Given the description of an element on the screen output the (x, y) to click on. 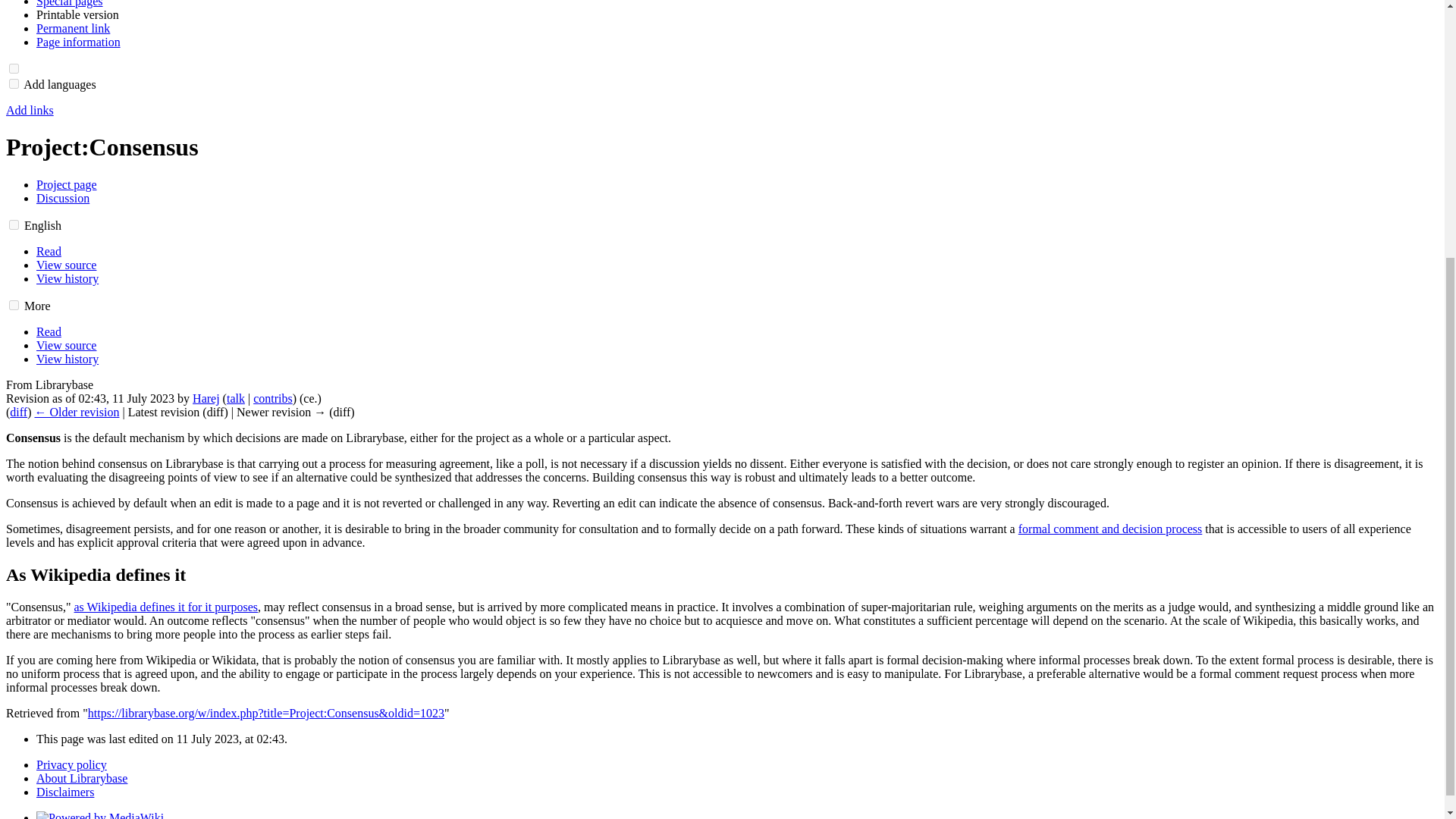
diff (18, 411)
Page information (78, 42)
View history (67, 358)
View history (67, 278)
on (13, 68)
Project page (66, 184)
talk (235, 398)
Special pages (69, 3)
Permanent link to this revision of this page (73, 28)
on (13, 305)
